Given the description of an element on the screen output the (x, y) to click on. 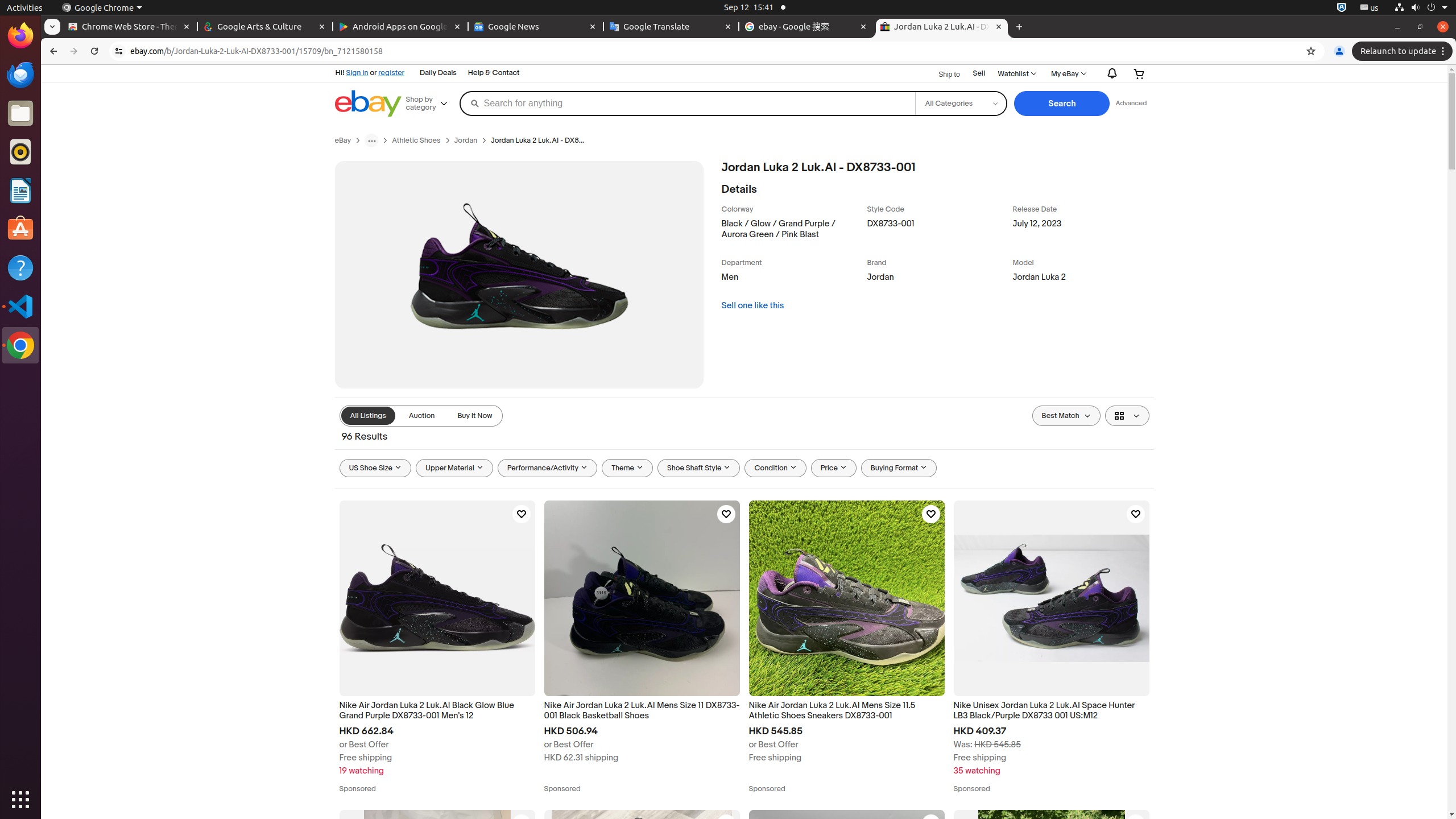
Reload Element type: push-button (94, 50)
Theme Element type: push-button (627, 467)
Nike Air Jordan Luka 2 Luk.AI Mens Size 11.5 Athletic Shoes Sneakers DX8733-001 Element type: link (846, 710)
Auction Element type: link (421, 415)
Your shopping cart Element type: link (1139, 73)
